Given the description of an element on the screen output the (x, y) to click on. 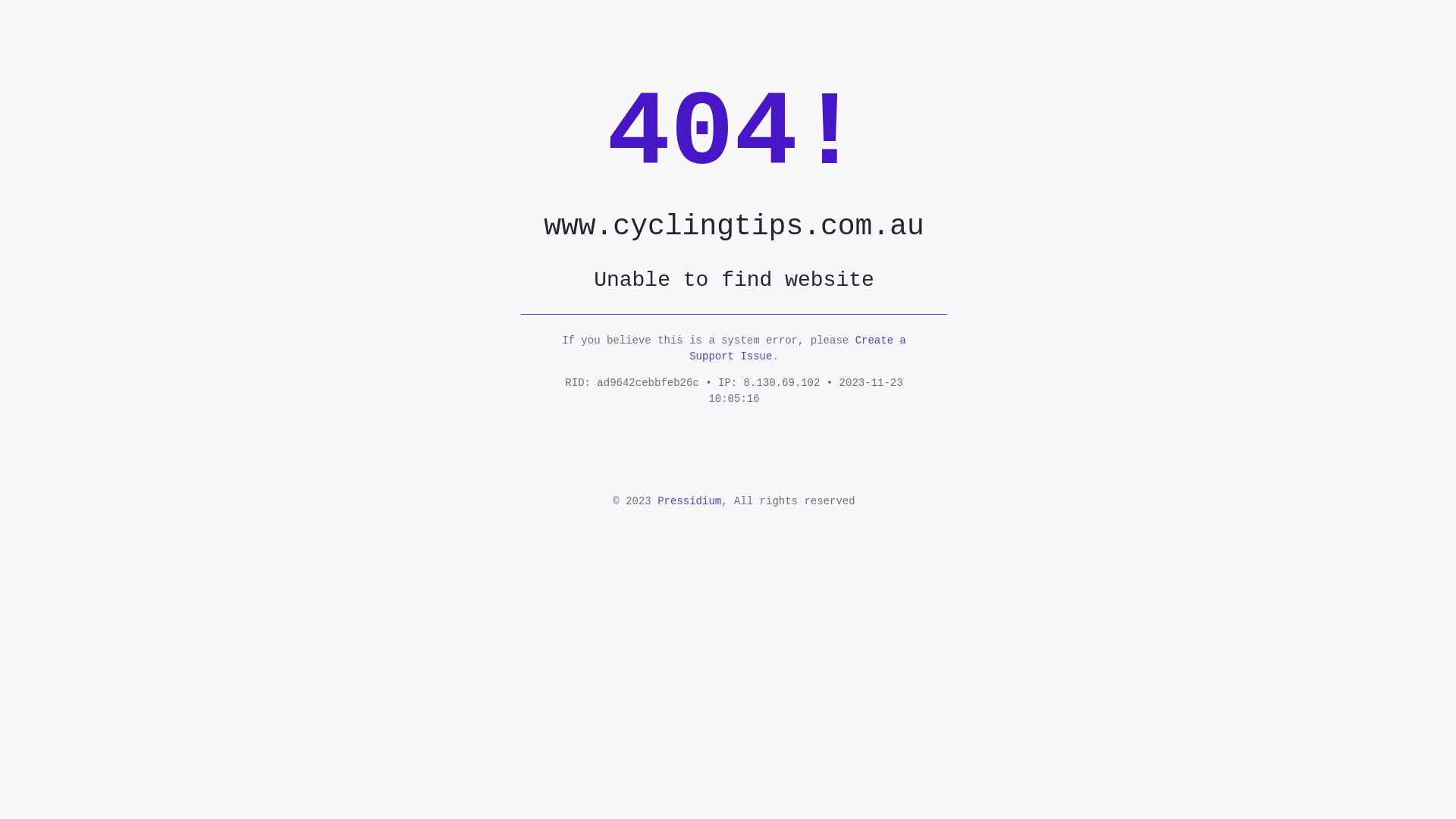
Create a Support Issue Element type: text (797, 348)
Pressidium Element type: text (689, 501)
